Given the description of an element on the screen output the (x, y) to click on. 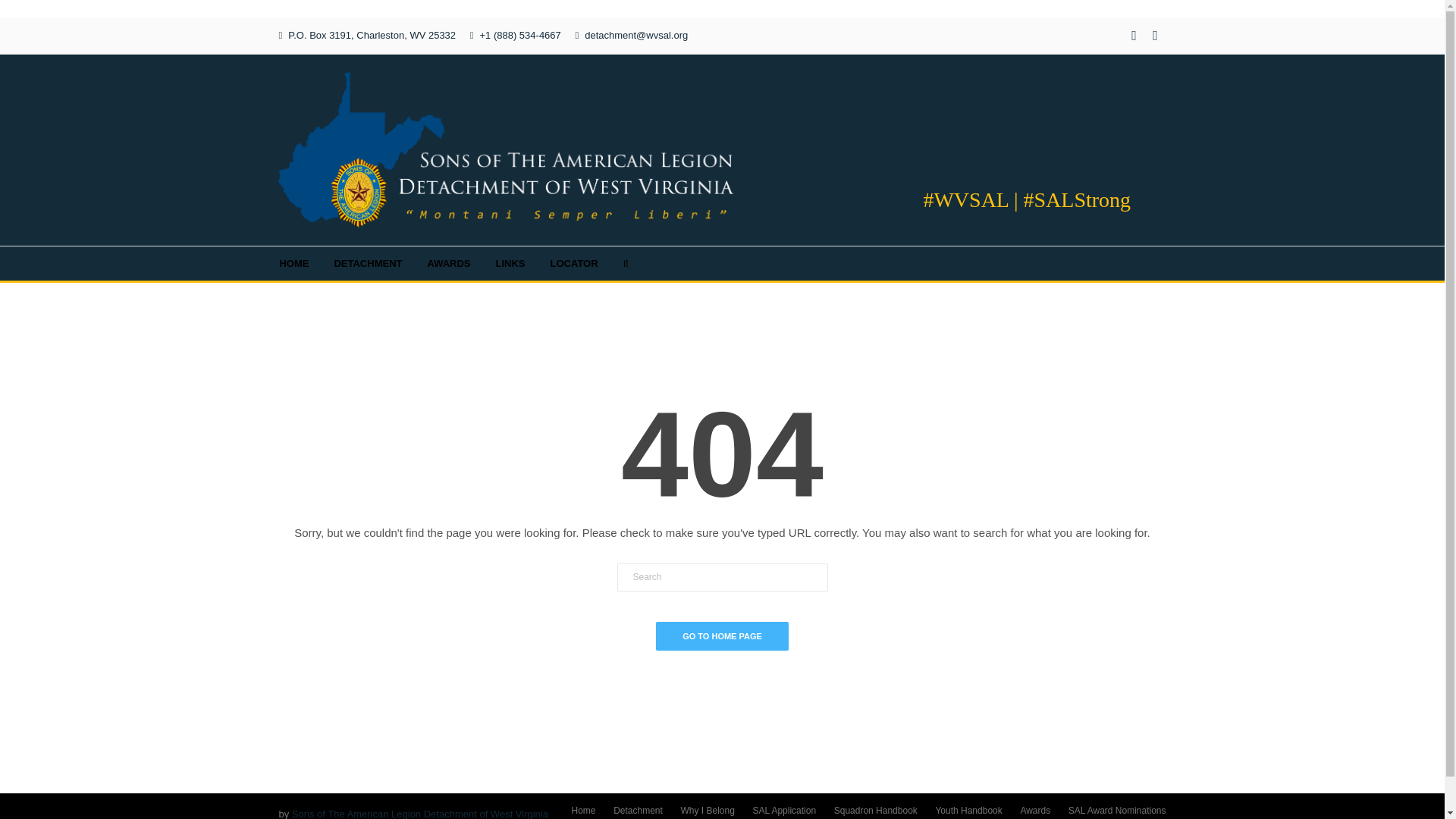
Facebook (1133, 35)
RSS (1155, 35)
AWARDS (448, 263)
HOME (293, 263)
LINKS (510, 263)
LOCATOR (574, 263)
DETACHMENT (368, 263)
Search (722, 577)
